Given the description of an element on the screen output the (x, y) to click on. 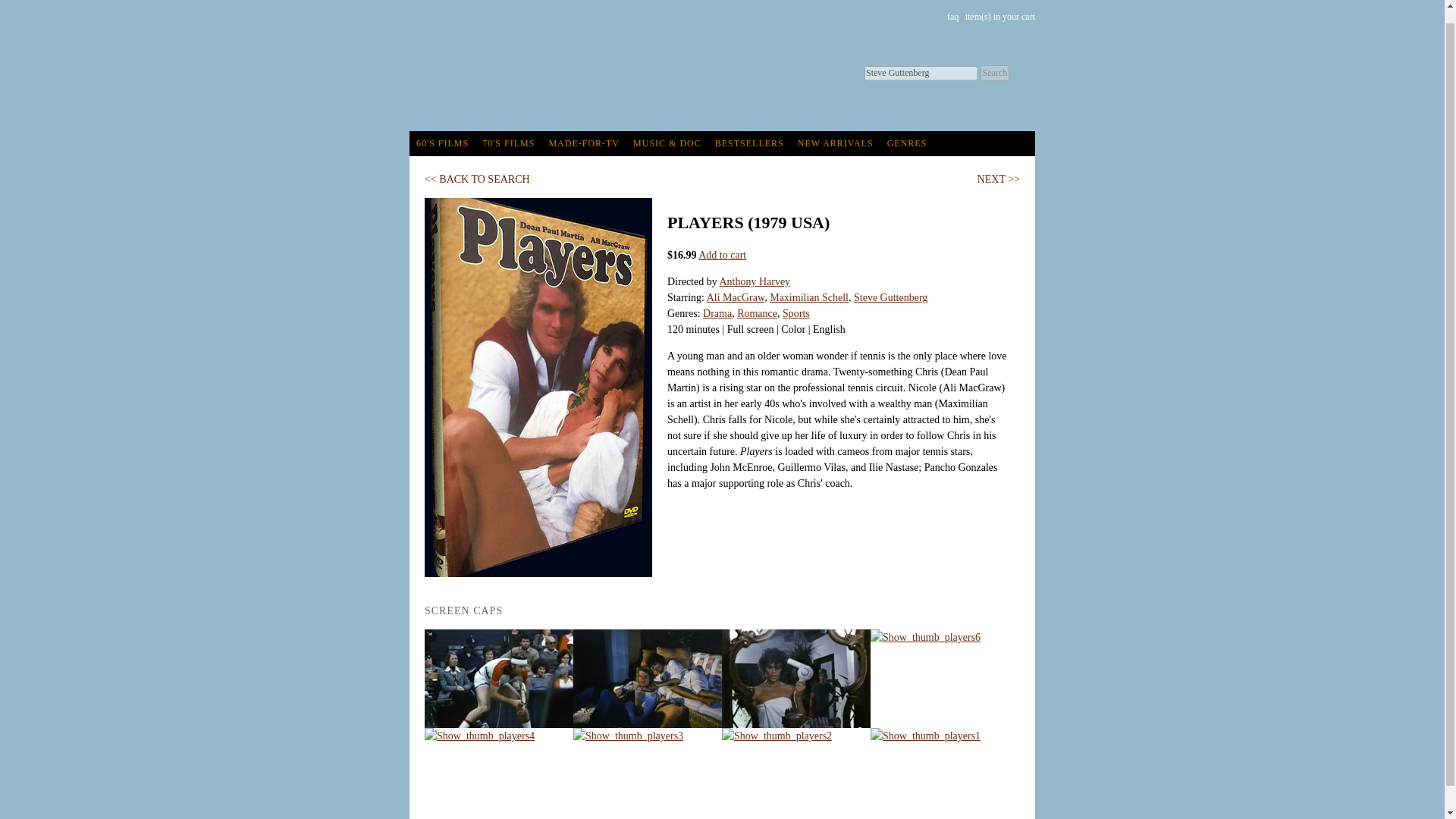
Maximilian Schell (809, 297)
Romance (756, 313)
60'S FILMS (442, 143)
Anthony Harvey (754, 281)
70'S FILMS (508, 143)
MADE-FOR-TV (583, 143)
BESTSELLERS (748, 143)
Search (994, 73)
Search (994, 73)
Steve Guttenberg (890, 297)
GENRES (907, 143)
Add to cart (721, 255)
Ali MacGraw (735, 297)
faq (952, 16)
Sports (796, 313)
